Given the description of an element on the screen output the (x, y) to click on. 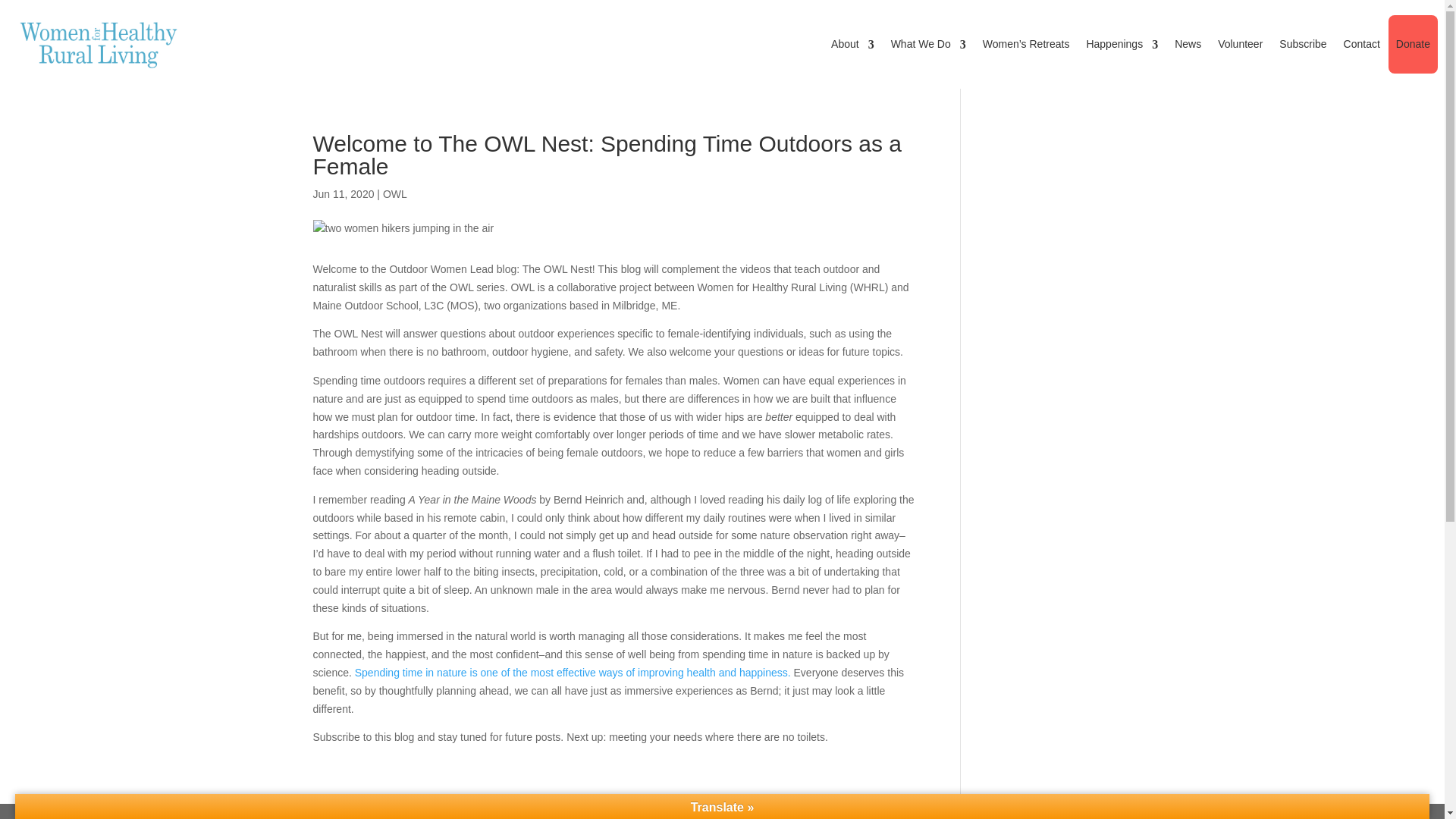
Happenings (1121, 44)
What We Do (928, 44)
OWL (394, 193)
